Given the description of an element on the screen output the (x, y) to click on. 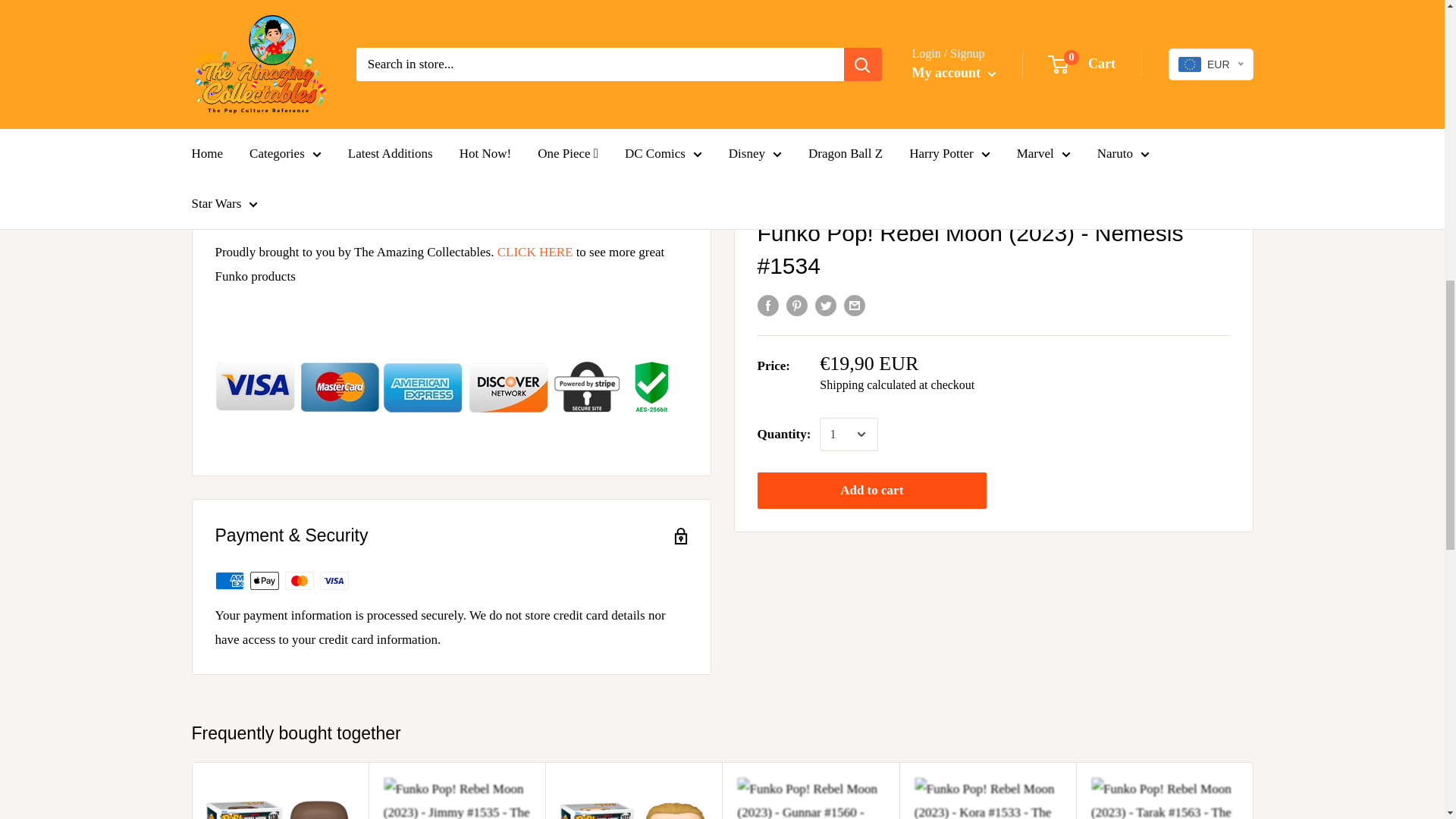
Funko Pop! Vinyl Figures (535, 251)
